Given the description of an element on the screen output the (x, y) to click on. 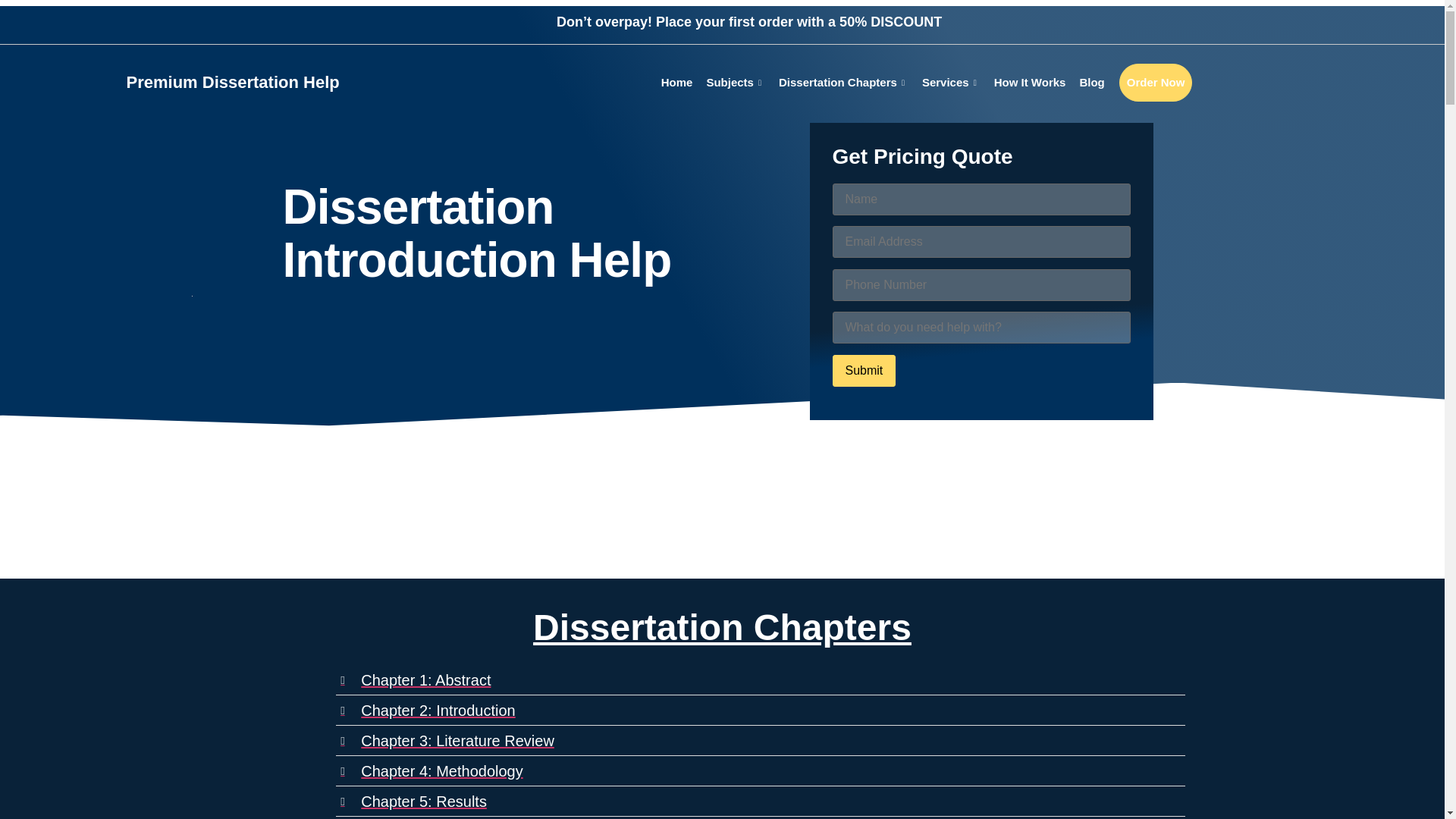
Premium Dissertation Help (232, 81)
Submit (864, 370)
Subjects (734, 82)
